Given the description of an element on the screen output the (x, y) to click on. 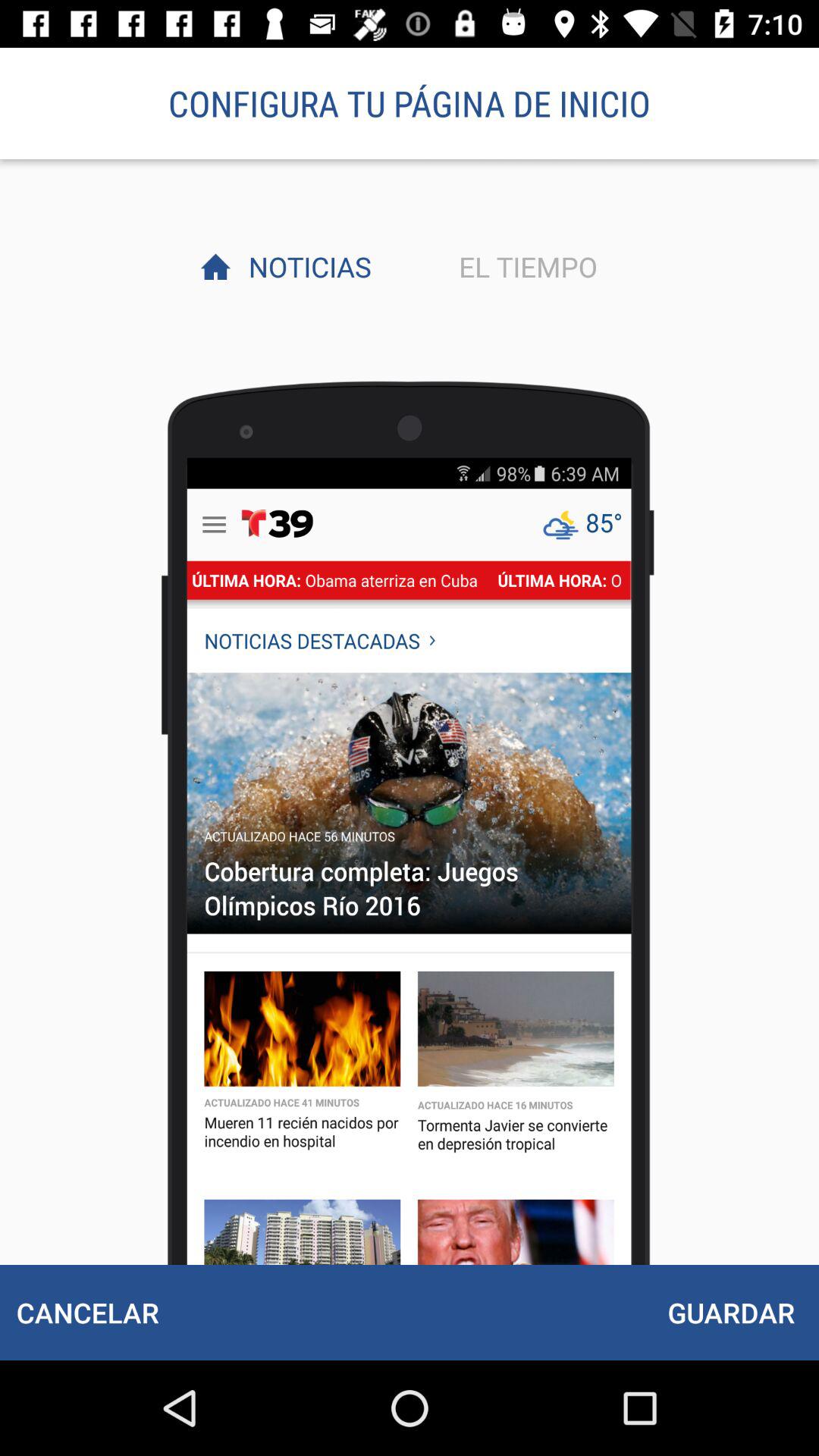
jump until guardar (731, 1312)
